Given the description of an element on the screen output the (x, y) to click on. 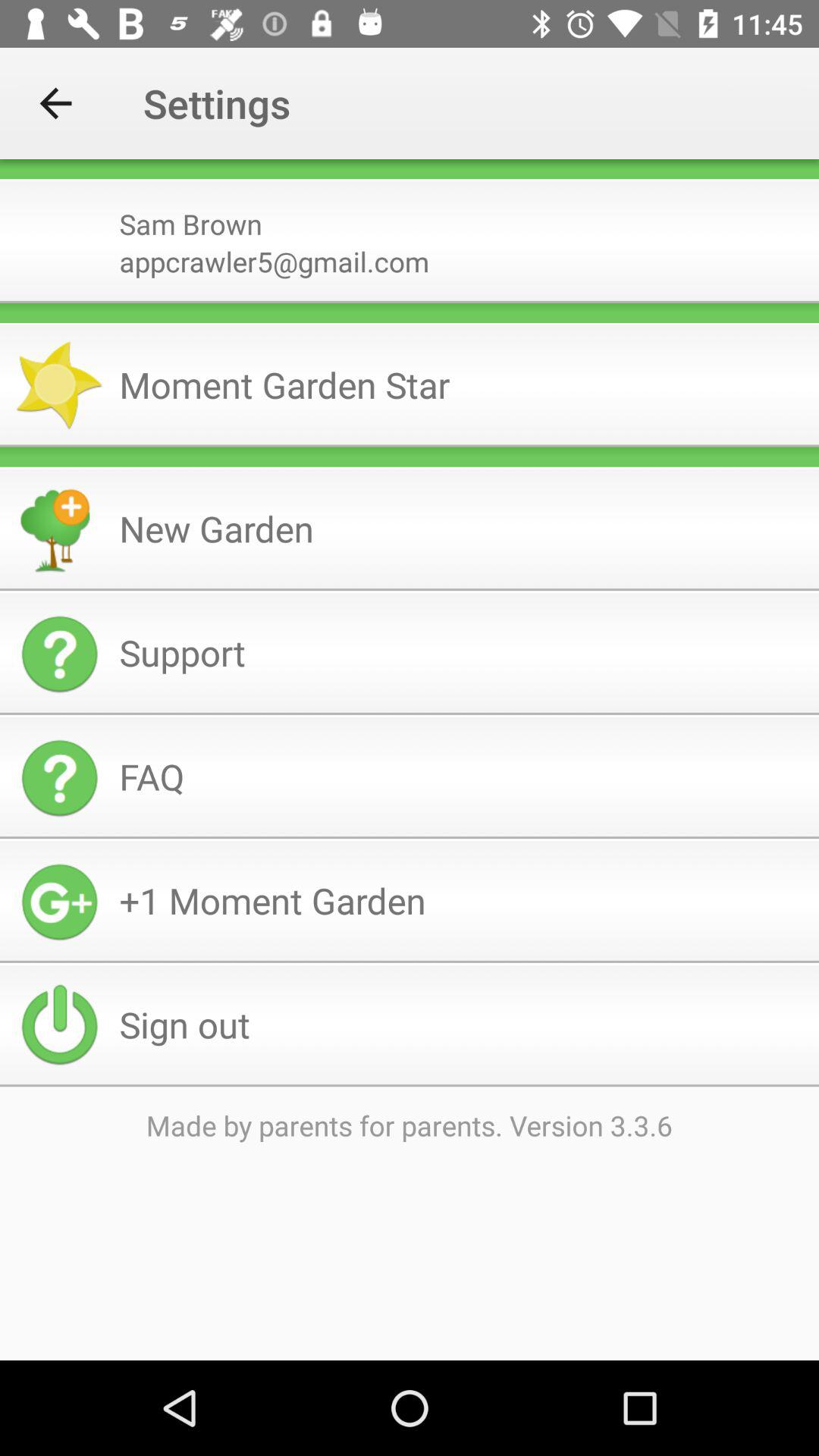
turn off the item above the (409, 445)
